Given the description of an element on the screen output the (x, y) to click on. 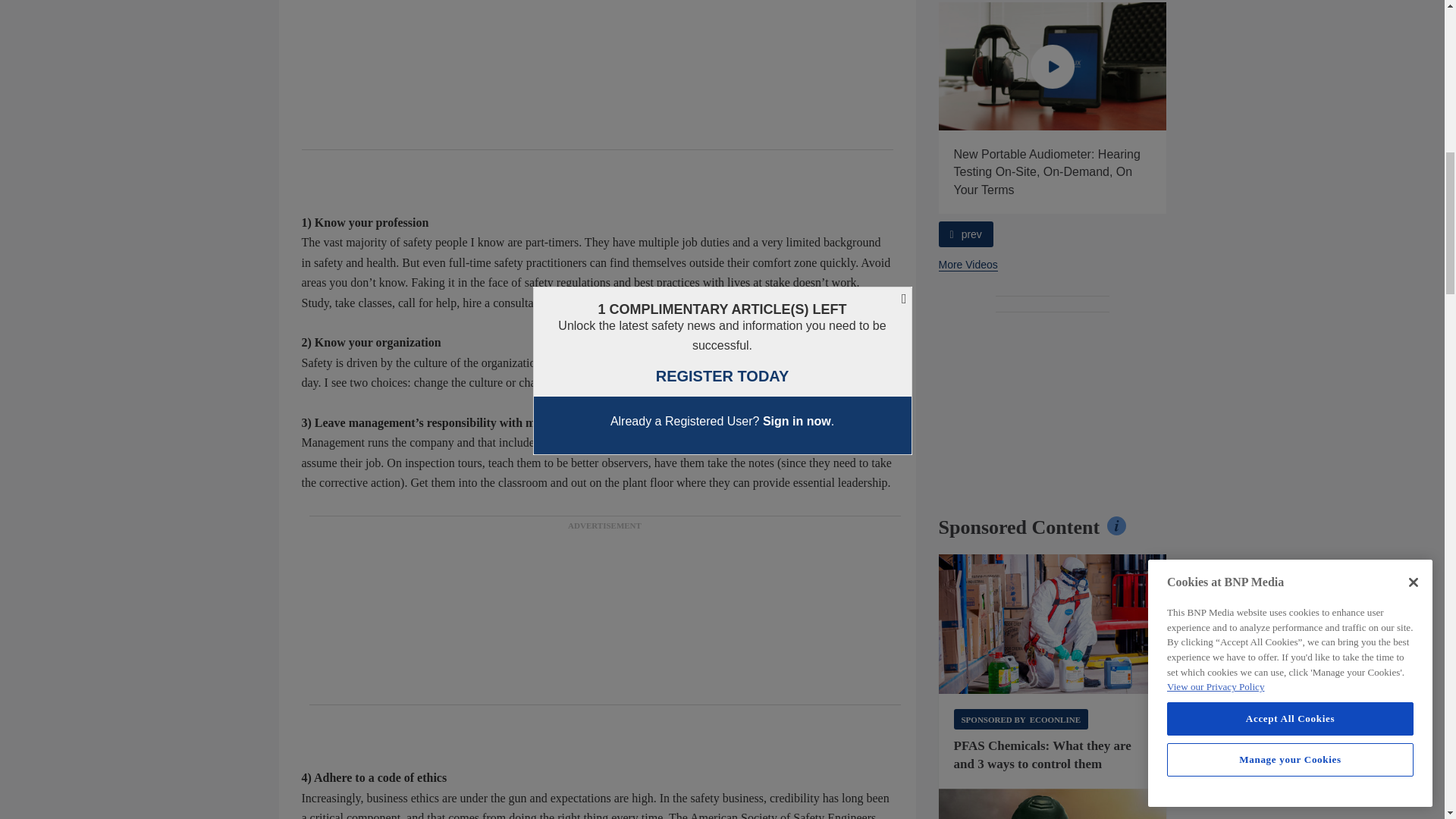
chemical safety (1052, 623)
Hazardous Dusts Can Harm Workers (825, 66)
Sponsored by EcoOnline (1021, 719)
man working in summer heat (1052, 803)
